Given the description of an element on the screen output the (x, y) to click on. 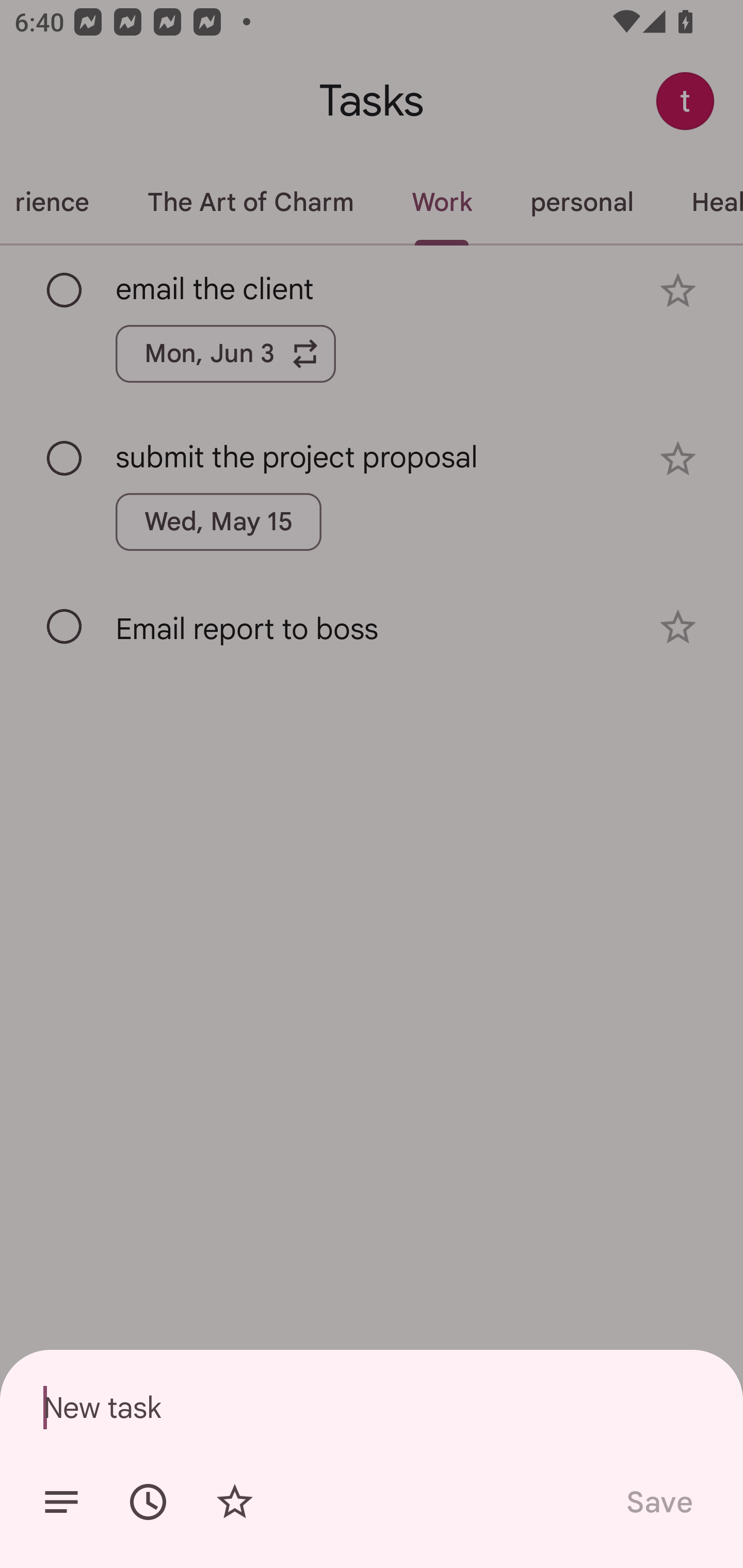
New task (371, 1407)
Save (659, 1501)
Add details (60, 1501)
Set date/time (147, 1501)
Add star (234, 1501)
